Given the description of an element on the screen output the (x, y) to click on. 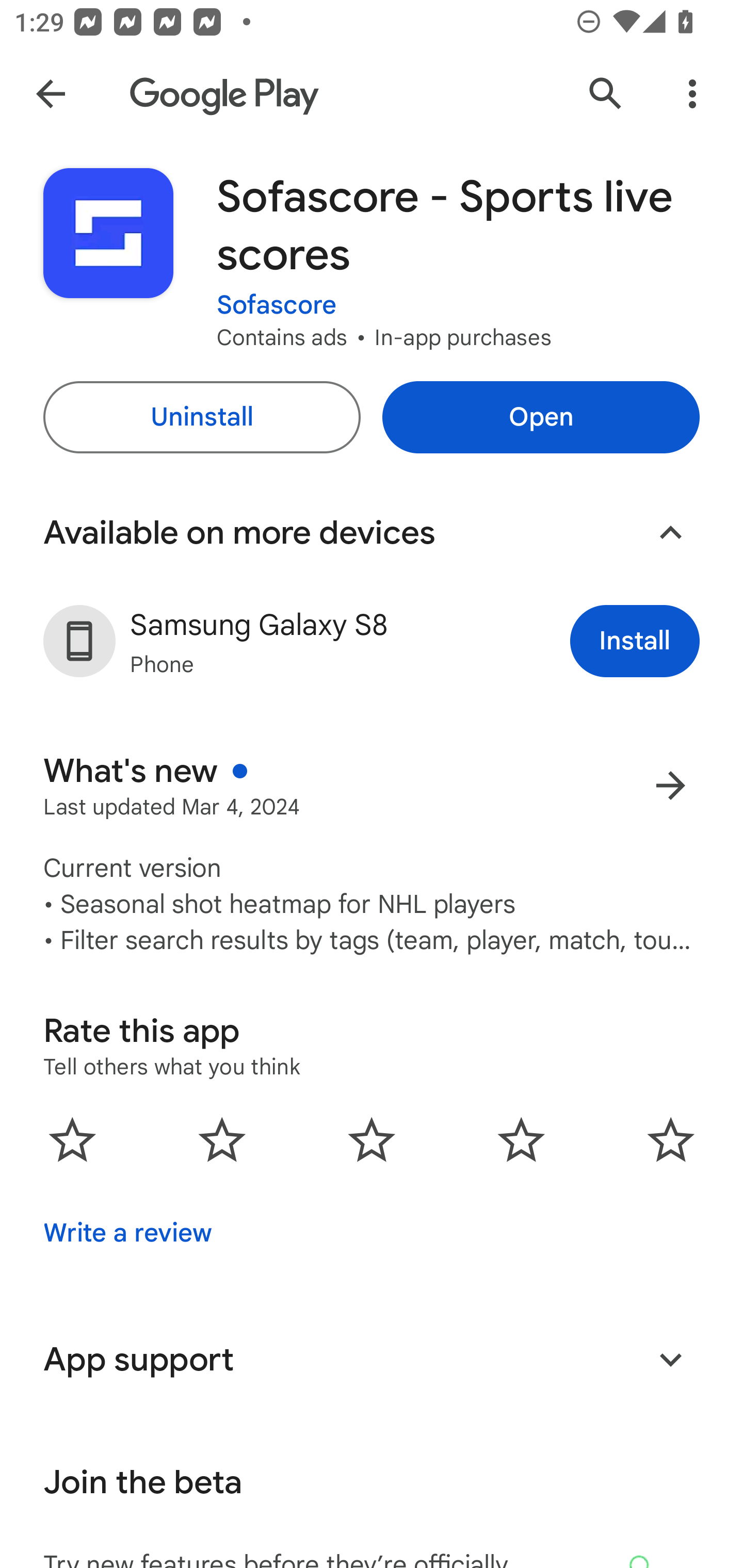
Navigate up (50, 93)
Search Google Play (605, 93)
More Options (692, 93)
Sofascore (276, 292)
Uninstall (201, 416)
Open (540, 416)
Available on more devices Collapse (371, 532)
Collapse (670, 532)
Install (634, 641)
More results for What's new (670, 785)
0.0 (371, 1139)
Write a review (127, 1233)
App support Expand (371, 1359)
Expand (670, 1359)
